Given the description of an element on the screen output the (x, y) to click on. 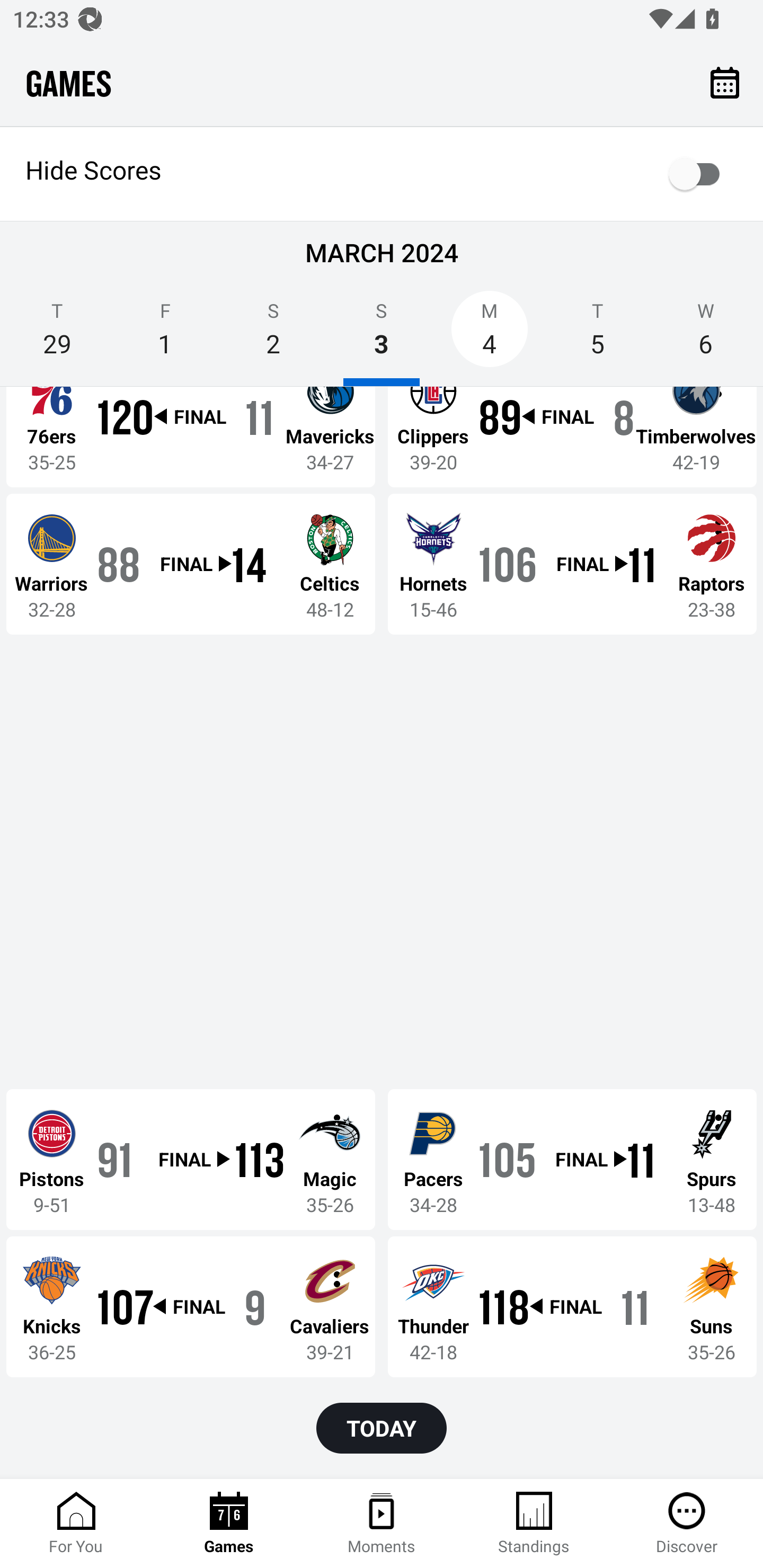
Calendar (724, 81)
Hide Scores (381, 174)
T 29 (57, 334)
F 1 (165, 334)
S 2 (273, 334)
S 3 (381, 334)
M 4 (489, 334)
T 5 (597, 334)
W 6 (705, 334)
TODAY (381, 1428)
For You (76, 1523)
Moments (381, 1523)
Standings (533, 1523)
Discover (686, 1523)
